Given the description of an element on the screen output the (x, y) to click on. 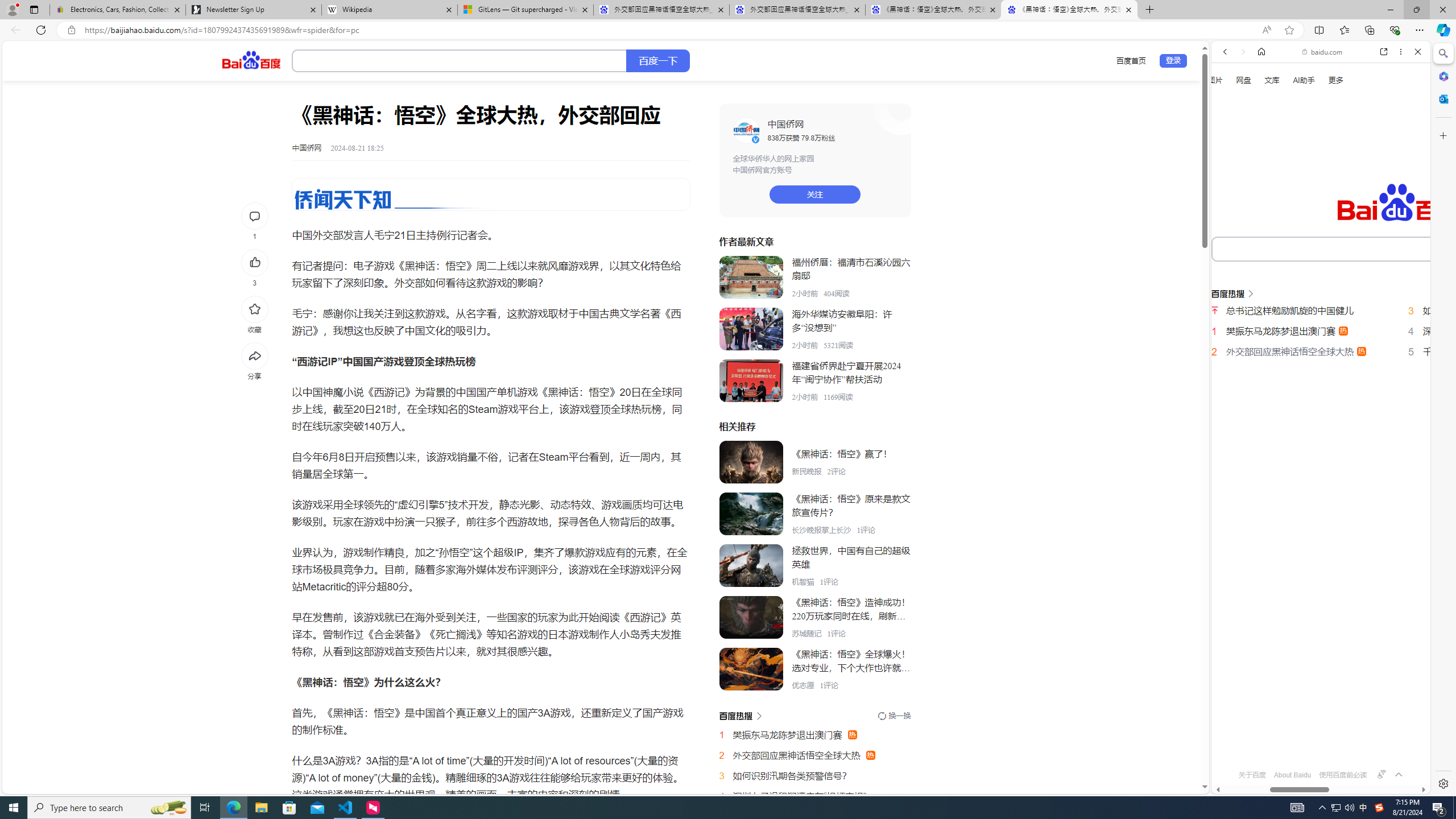
Class: _2C4fV (459, 60)
Newsletter Sign Up (253, 9)
WEB   (1230, 192)
Search the web (1326, 78)
SEARCH TOOLS (1350, 192)
